Given the description of an element on the screen output the (x, y) to click on. 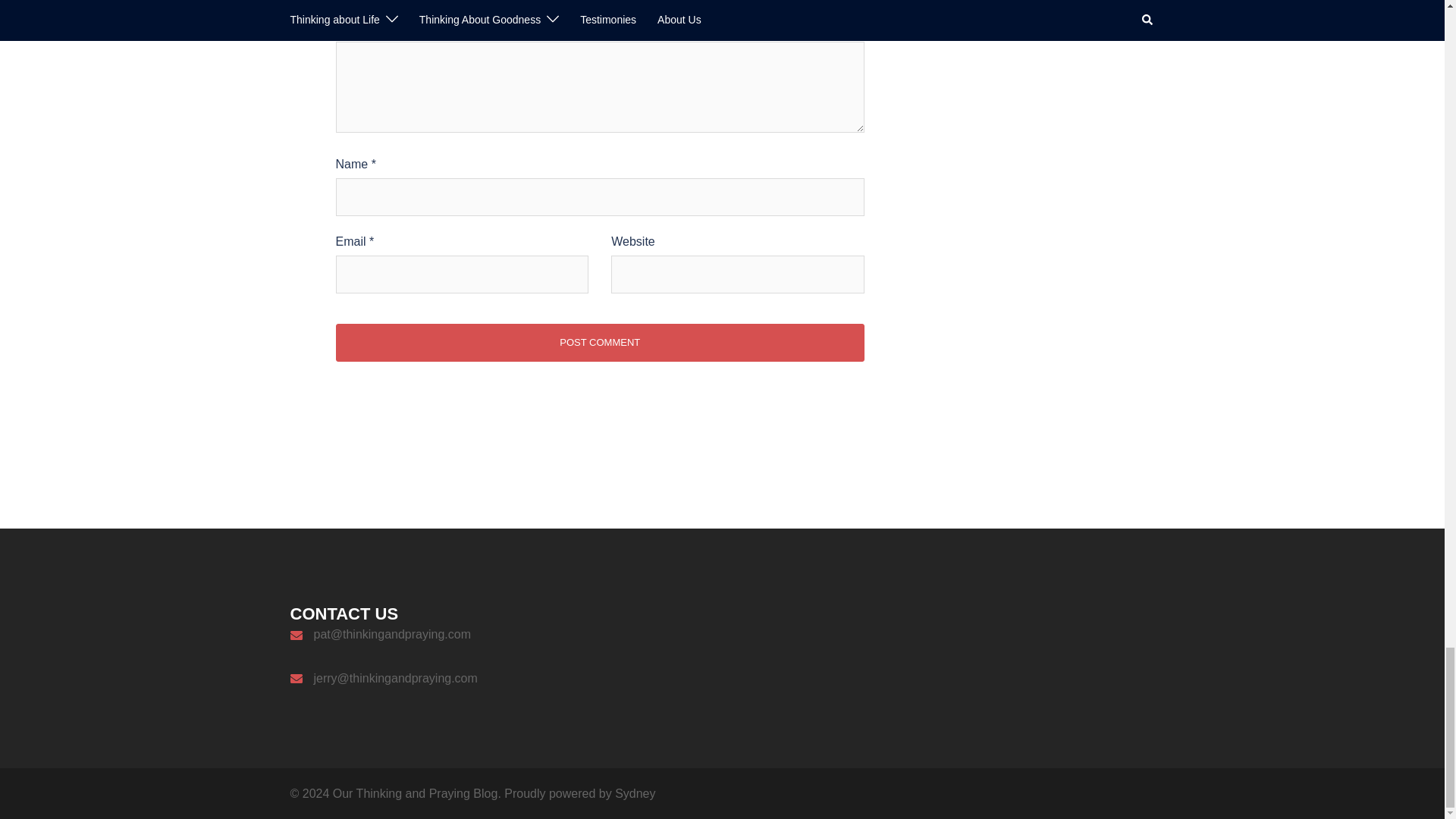
Post Comment (599, 342)
Post Comment (599, 342)
